Given the description of an element on the screen output the (x, y) to click on. 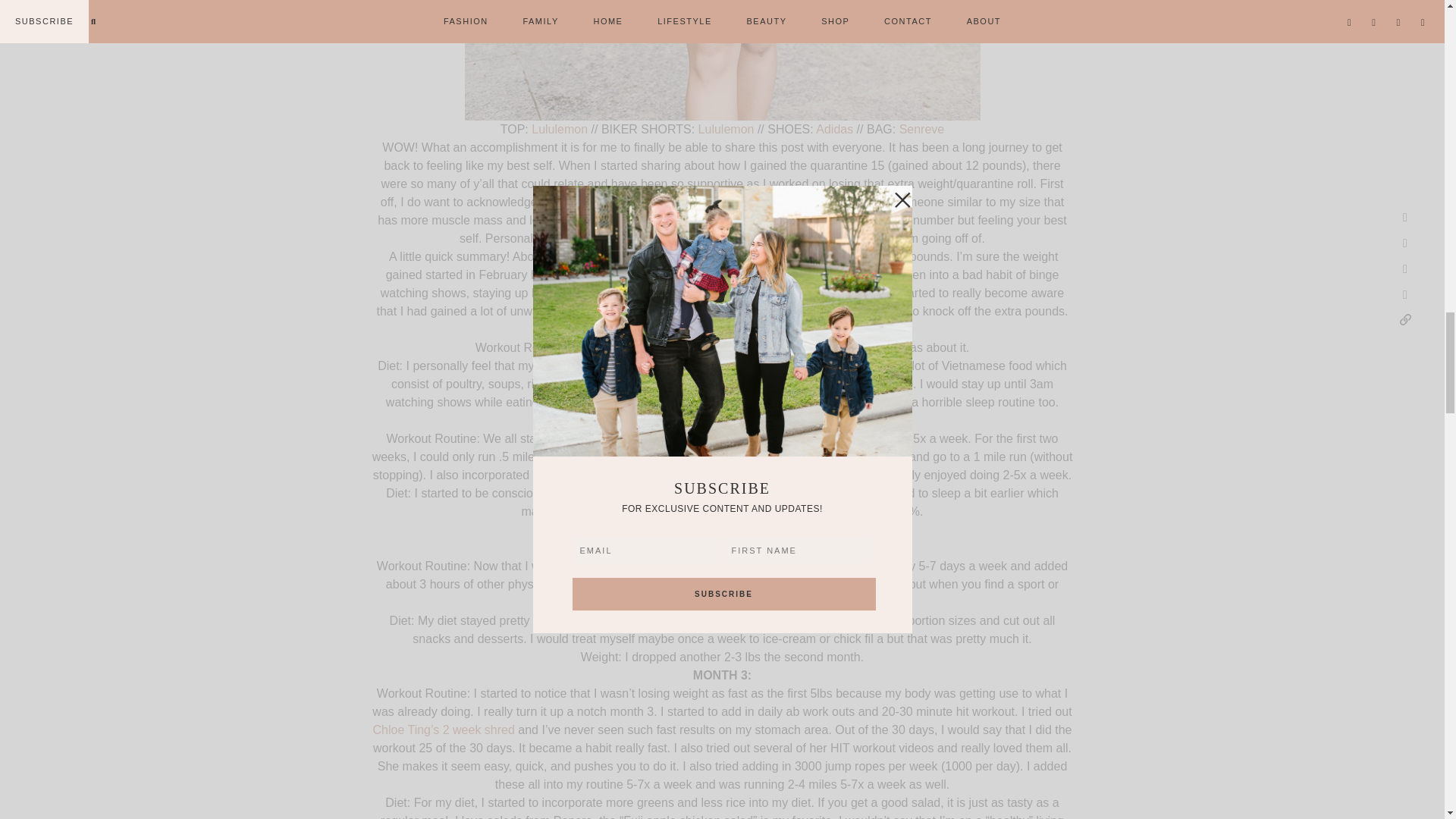
Adidas (834, 128)
Lululemon (559, 128)
Lululemon (726, 128)
Senreve (921, 128)
